Given the description of an element on the screen output the (x, y) to click on. 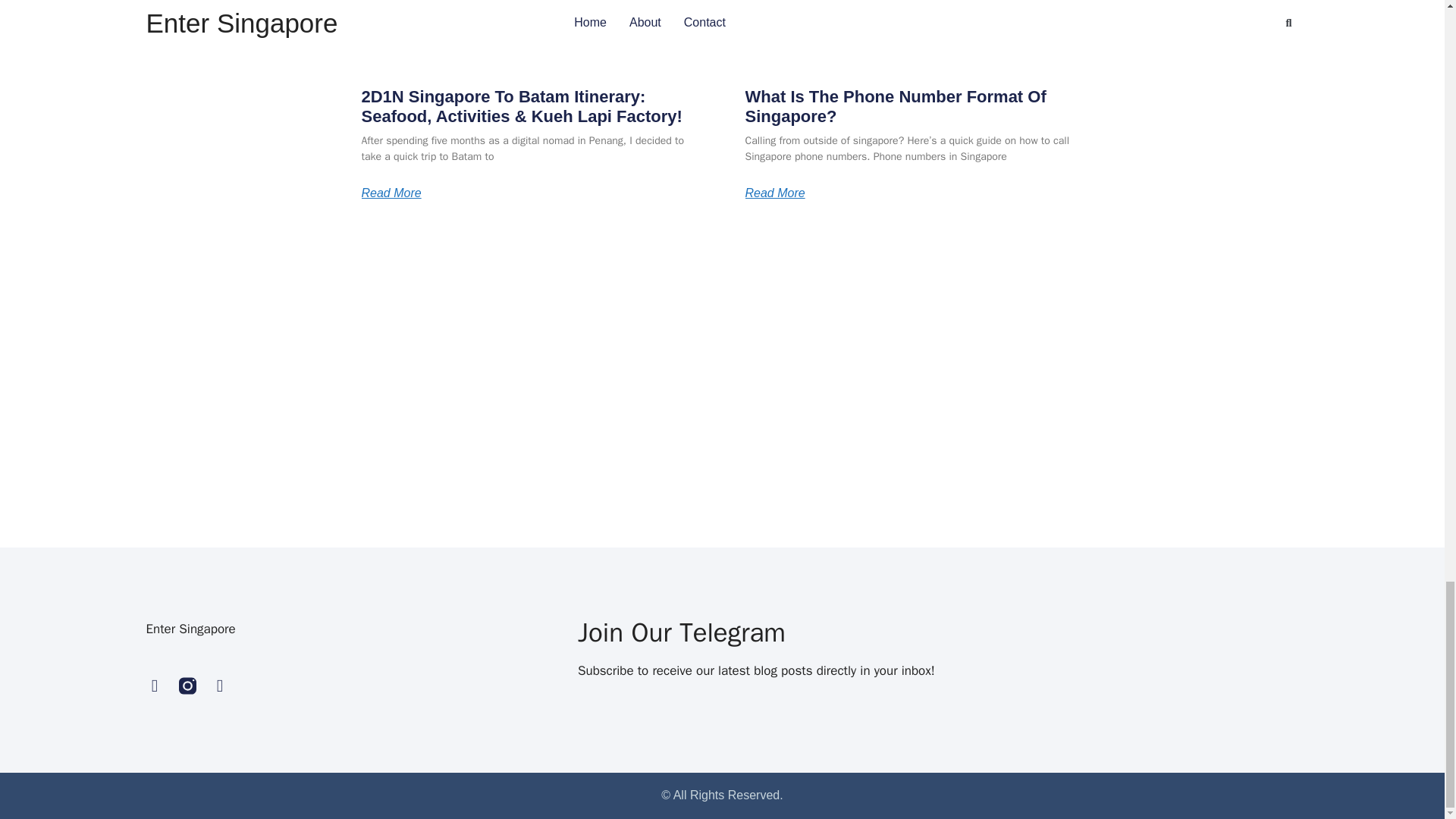
Read More (390, 193)
Read More (774, 193)
What Is The Phone Number Format Of Singapore? (894, 106)
